Given the description of an element on the screen output the (x, y) to click on. 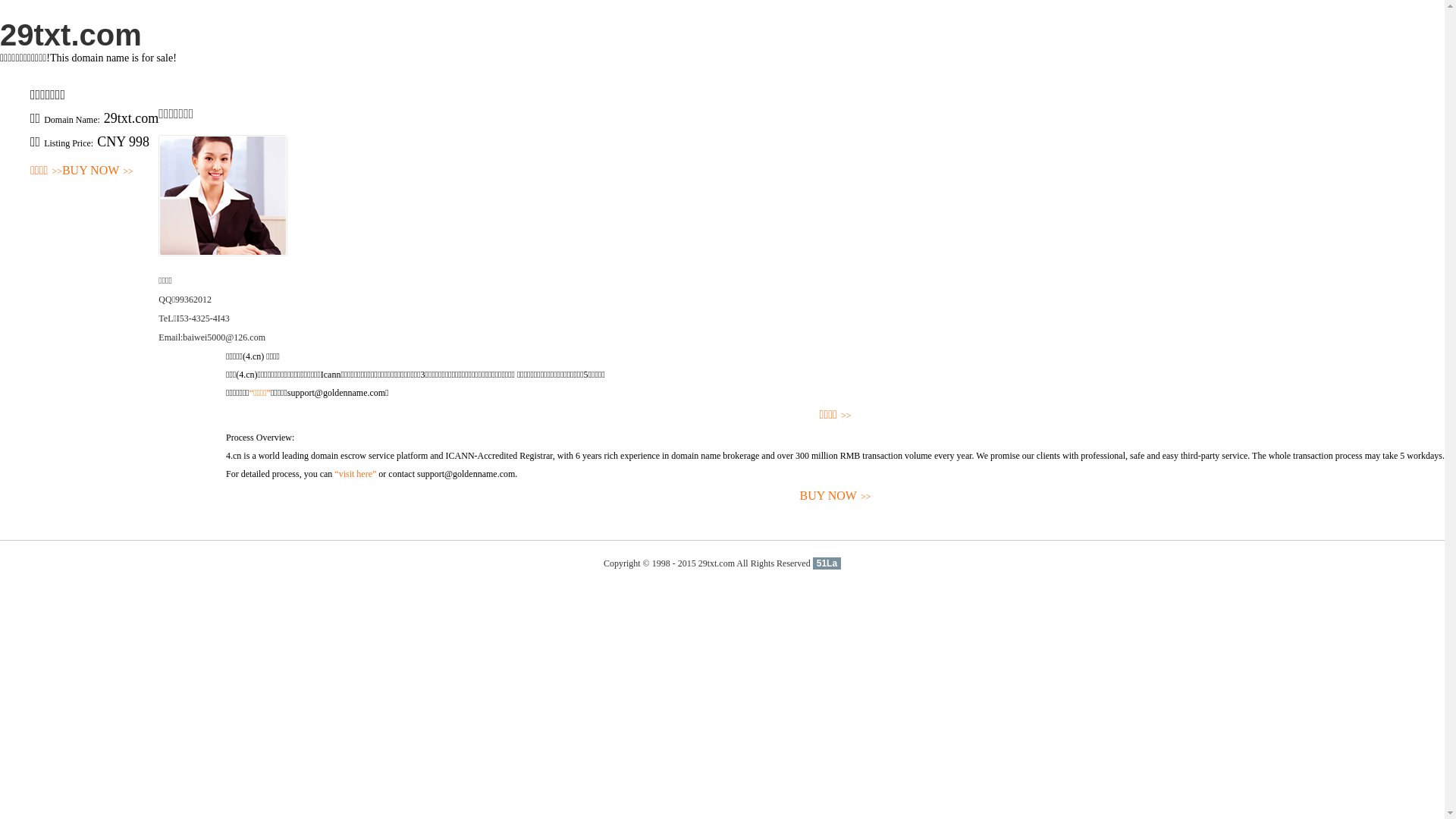
BUY NOW>> Element type: text (834, 496)
51La Element type: text (826, 563)
BUY NOW>> Element type: text (97, 170)
